Given the description of an element on the screen output the (x, y) to click on. 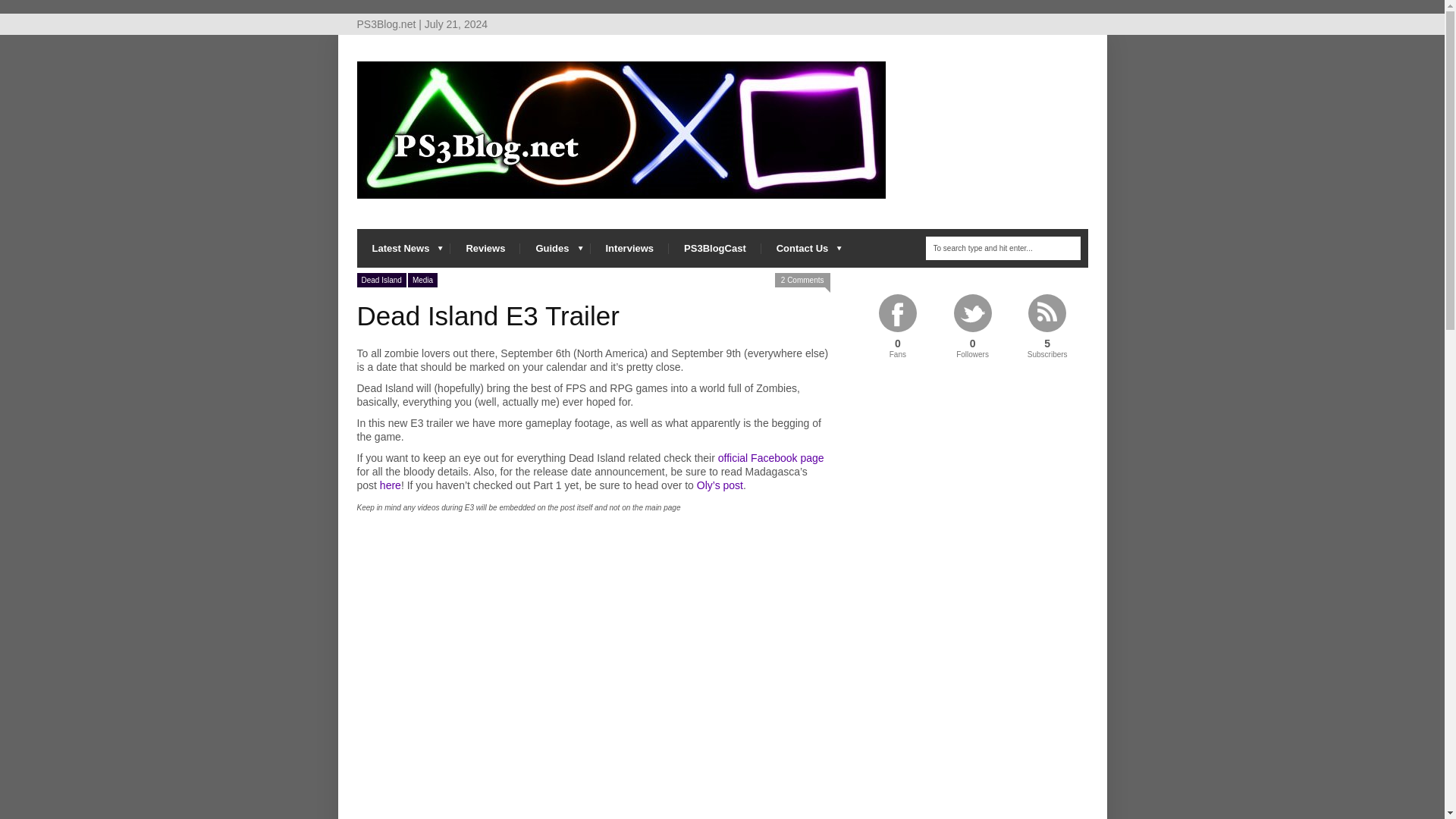
here (390, 485)
PS3BlogCast (714, 248)
Dead Island (381, 279)
2 Comments (801, 279)
To search type and hit enter... (1002, 248)
official Facebook page (770, 458)
Reviews (484, 248)
Media (422, 279)
Interviews (628, 248)
